Given the description of an element on the screen output the (x, y) to click on. 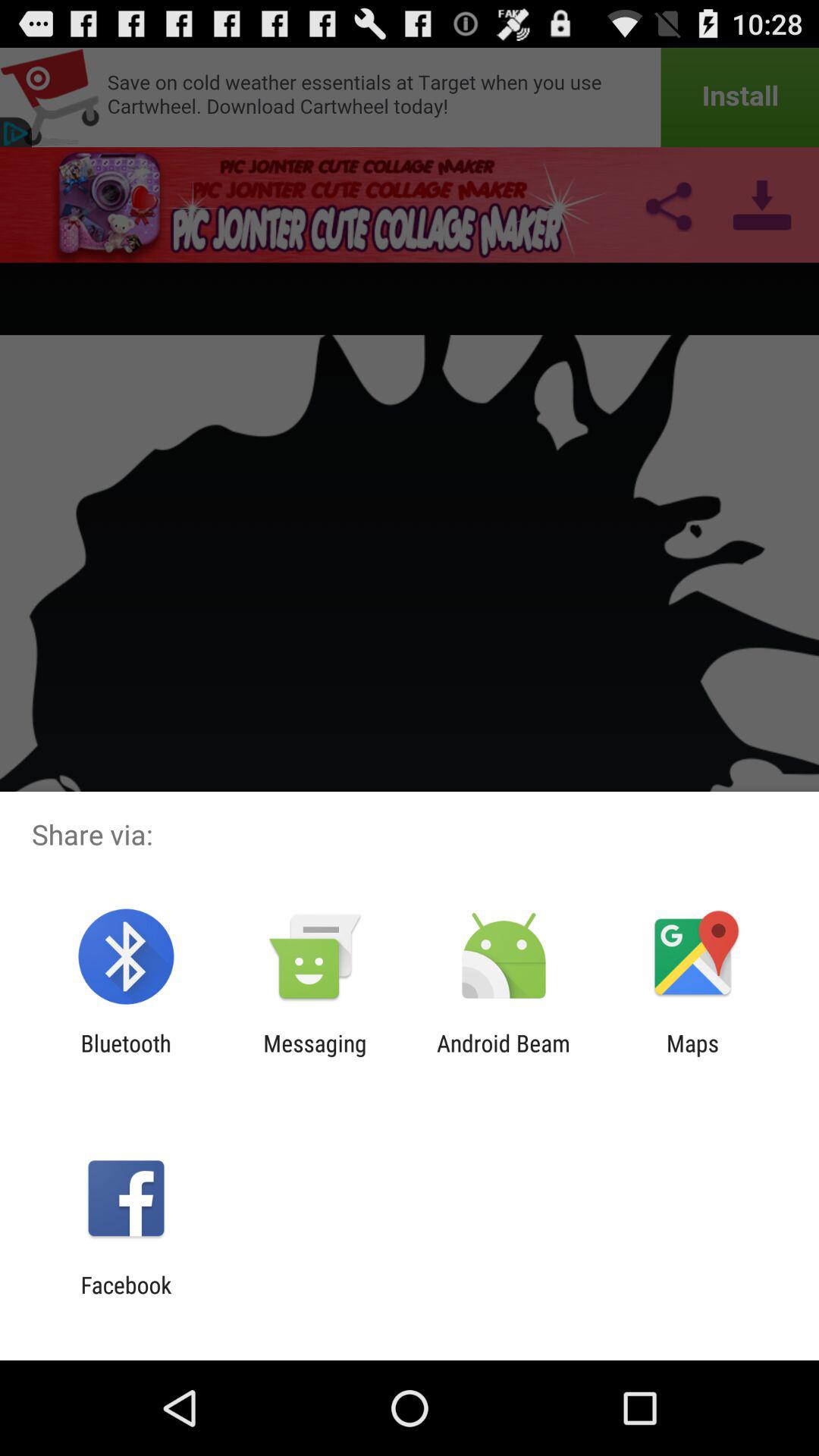
turn off the item next to android beam item (314, 1056)
